Given the description of an element on the screen output the (x, y) to click on. 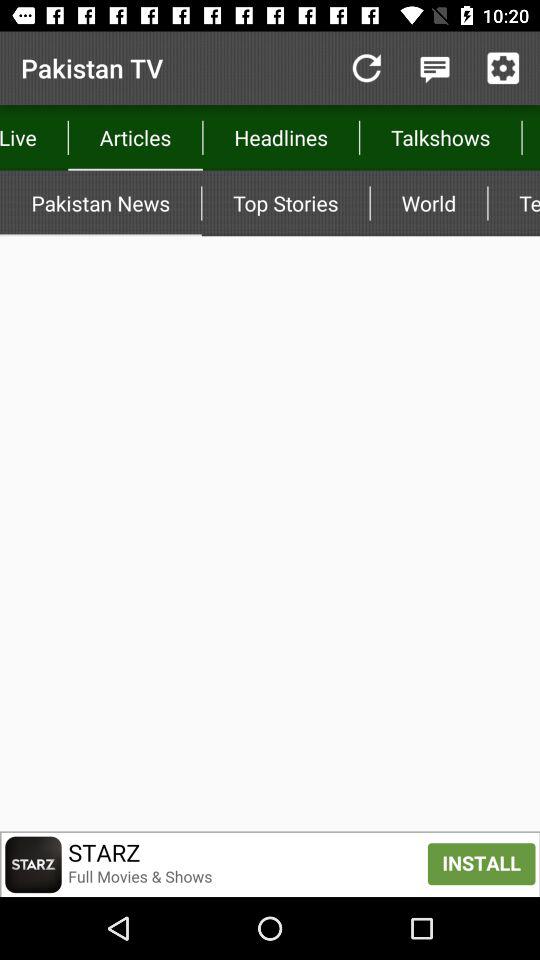
open item above top stories (440, 137)
